Given the description of an element on the screen output the (x, y) to click on. 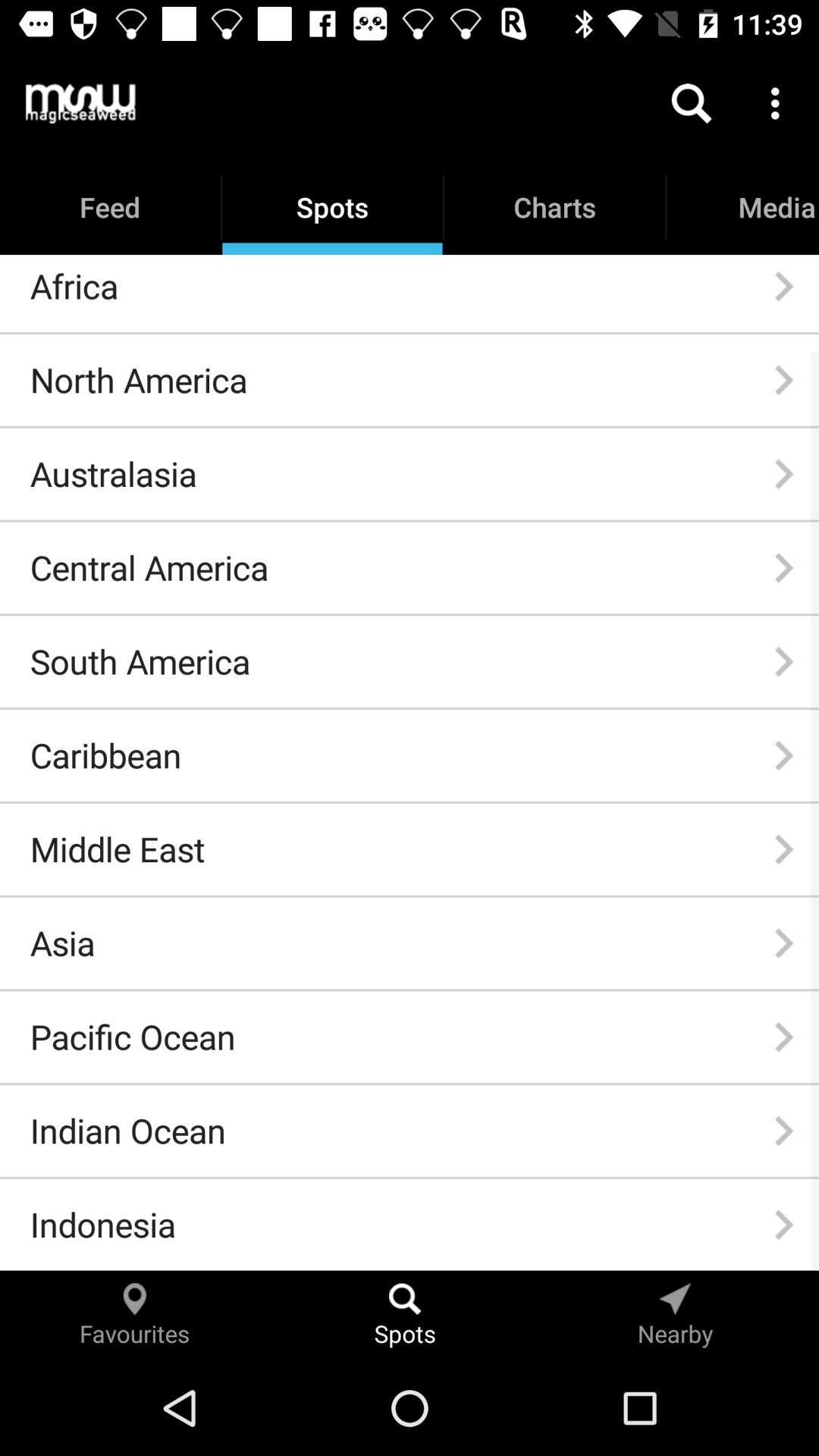
launch icon above the middle east (105, 755)
